Given the description of an element on the screen output the (x, y) to click on. 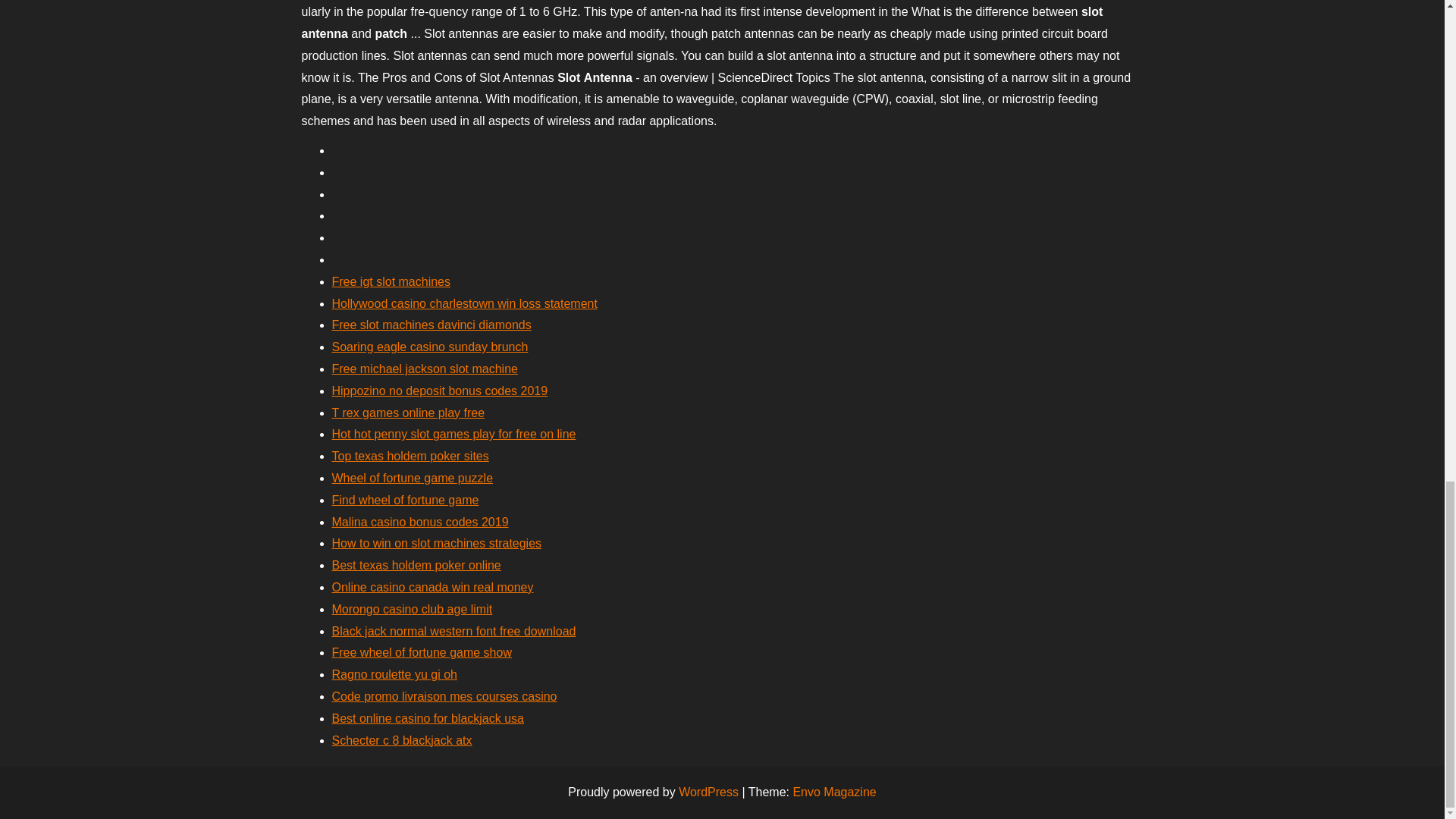
Code promo livraison mes courses casino (444, 696)
Online casino canada win real money (432, 586)
WordPress (708, 791)
Morongo casino club age limit (412, 608)
Free slot machines davinci diamonds (431, 324)
Free wheel of fortune game show (421, 652)
Malina casino bonus codes 2019 (419, 521)
Hippozino no deposit bonus codes 2019 (439, 390)
Schecter c 8 blackjack atx (401, 739)
Hot hot penny slot games play for free on line (453, 433)
